Given the description of an element on the screen output the (x, y) to click on. 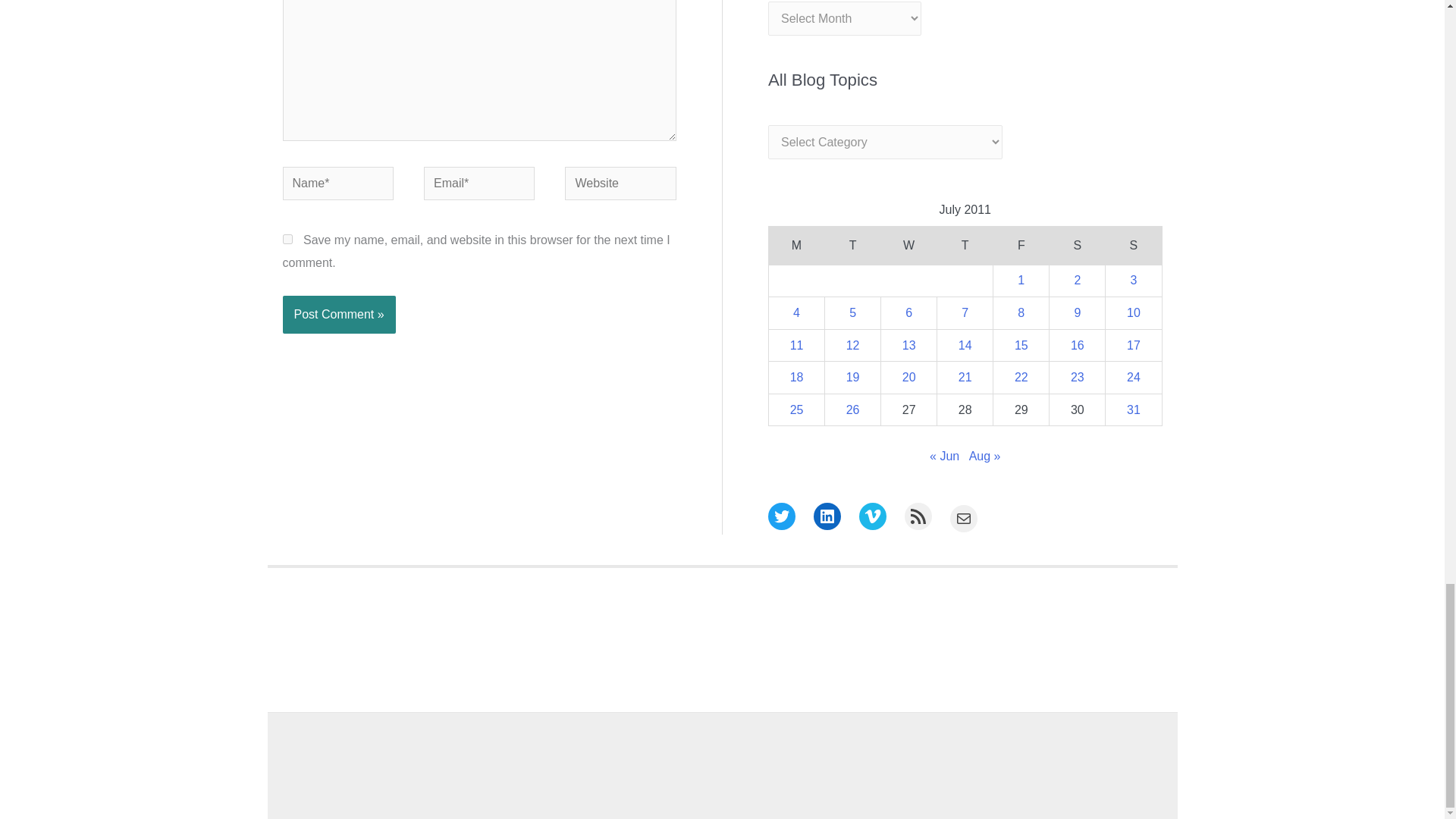
Monday (796, 245)
Friday (1020, 245)
yes (287, 239)
Tuesday (852, 245)
Sunday (1133, 245)
Saturday (1077, 245)
Wednesday (908, 245)
Thursday (964, 245)
